Given the description of an element on the screen output the (x, y) to click on. 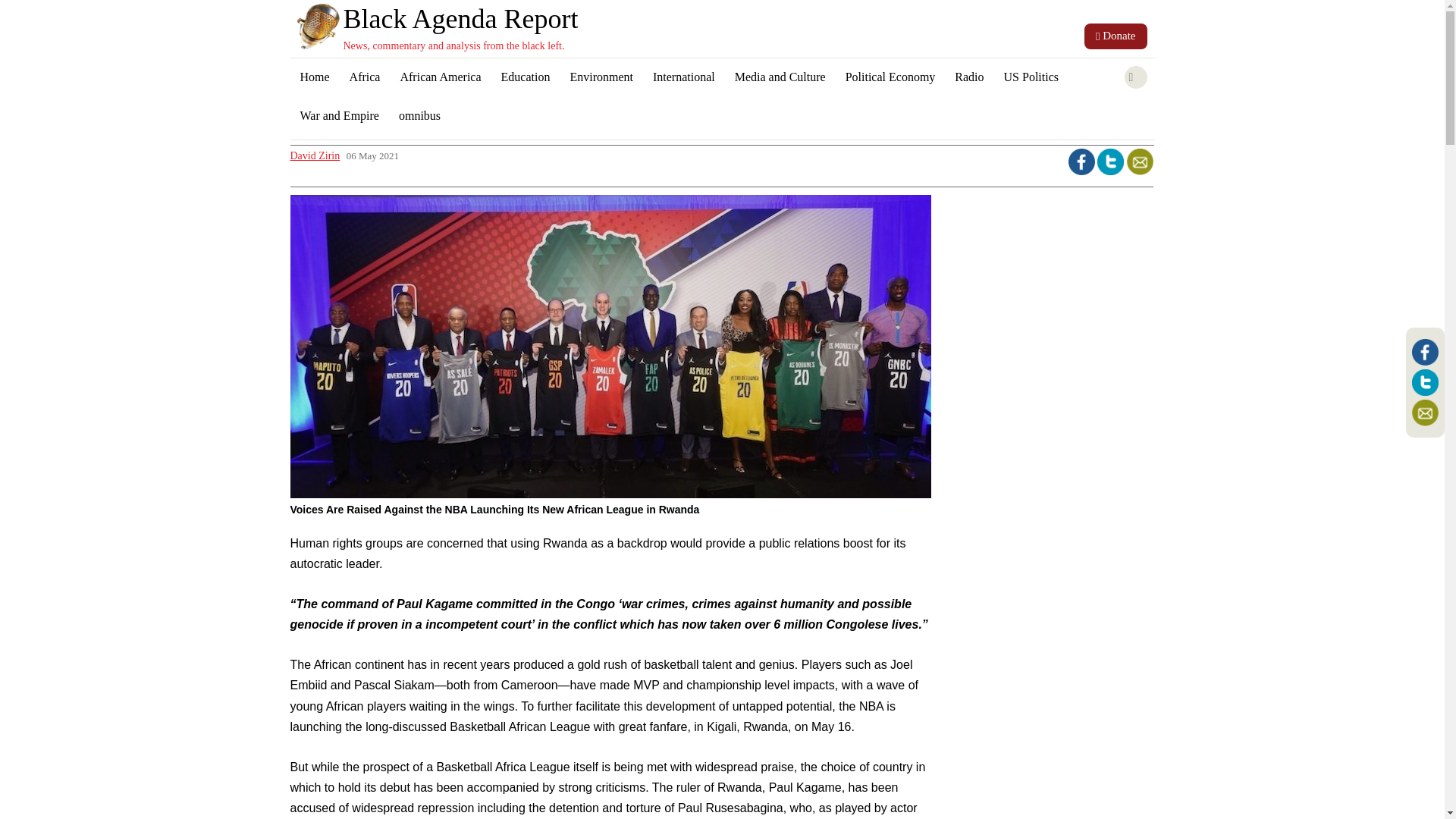
David Zirin (314, 155)
Africa (364, 77)
Media and Culture (780, 77)
International (684, 77)
War and Empire (338, 116)
Home (314, 77)
African America (440, 77)
Education (526, 77)
Environment (601, 77)
omnibus (418, 116)
